Given the description of an element on the screen output the (x, y) to click on. 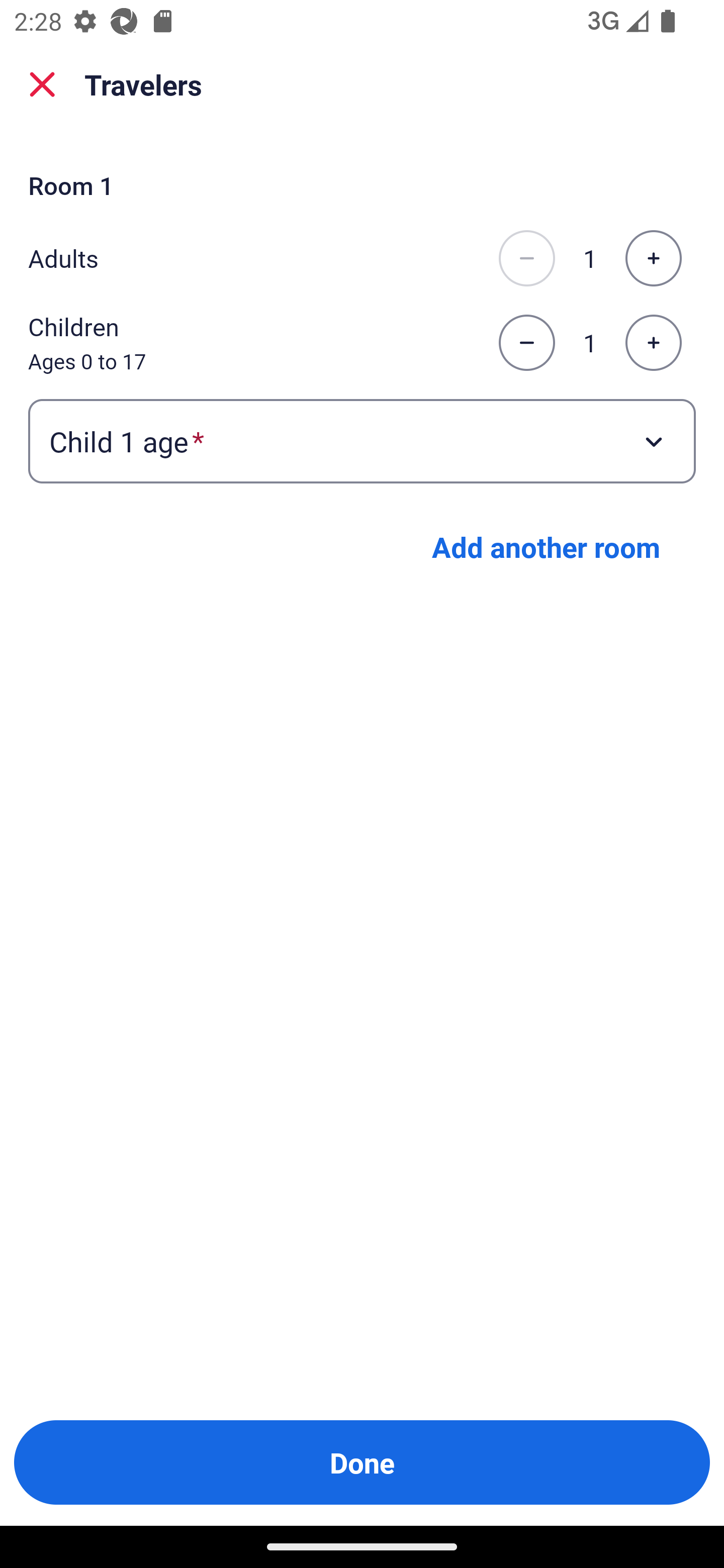
close (42, 84)
Decrease the number of adults (526, 258)
Increase the number of adults (653, 258)
Decrease the number of children (526, 343)
Increase the number of children (653, 343)
Child 1 age required Button (361, 440)
Add another room (545, 546)
Done (361, 1462)
